Given the description of an element on the screen output the (x, y) to click on. 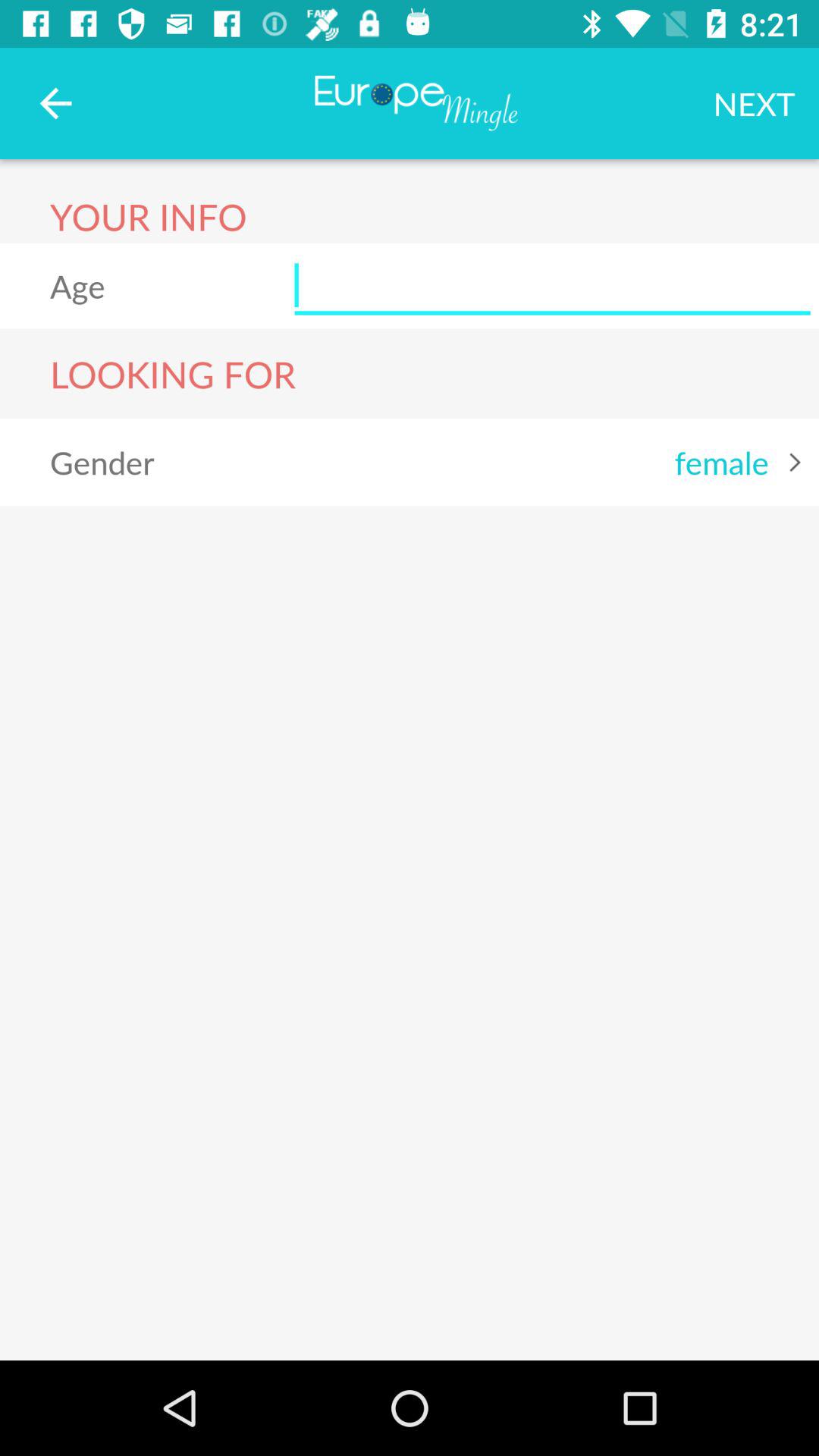
select the icon above the looking for (552, 285)
